Given the description of an element on the screen output the (x, y) to click on. 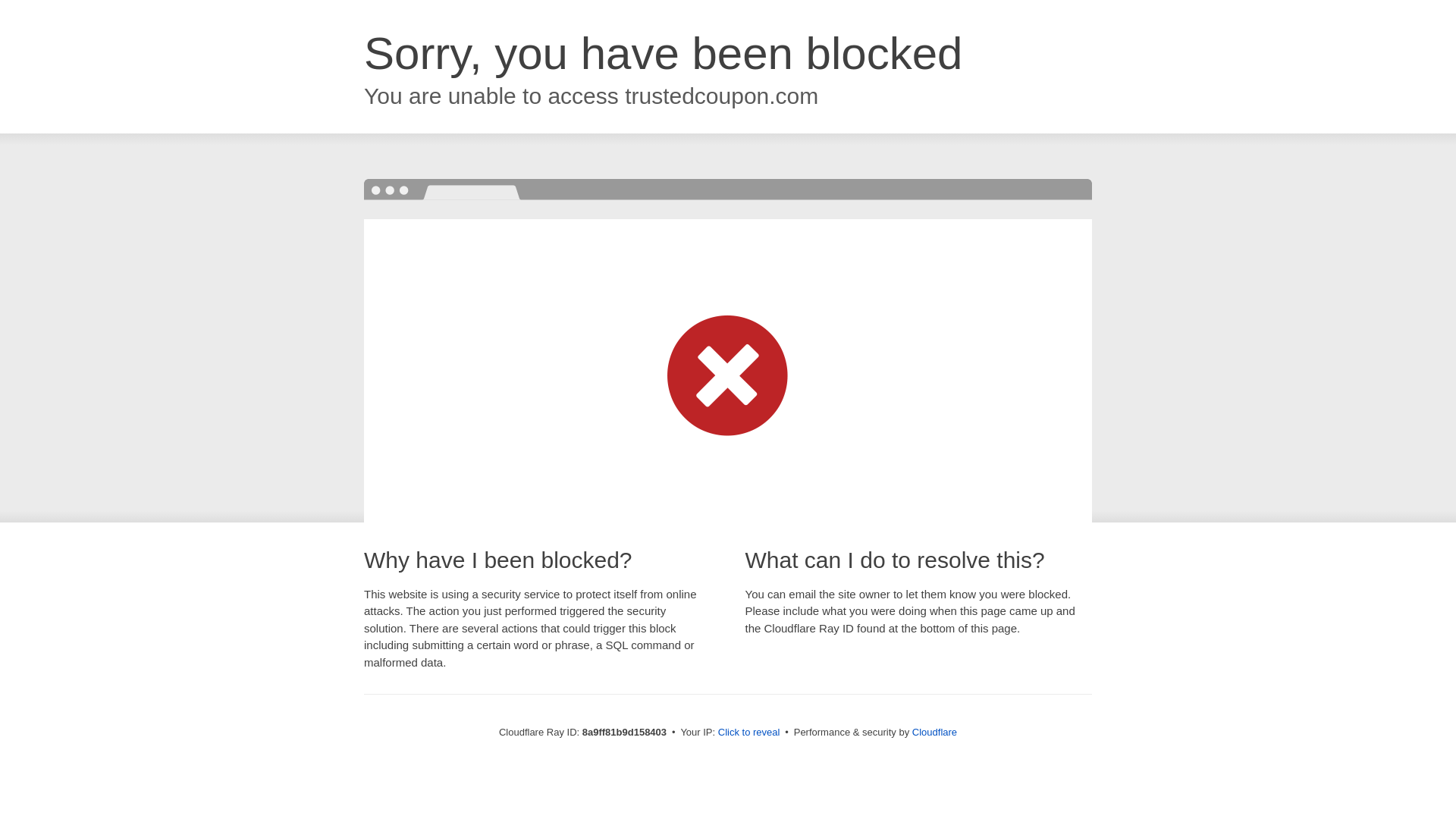
Click to reveal (748, 732)
Cloudflare (934, 731)
